Given the description of an element on the screen output the (x, y) to click on. 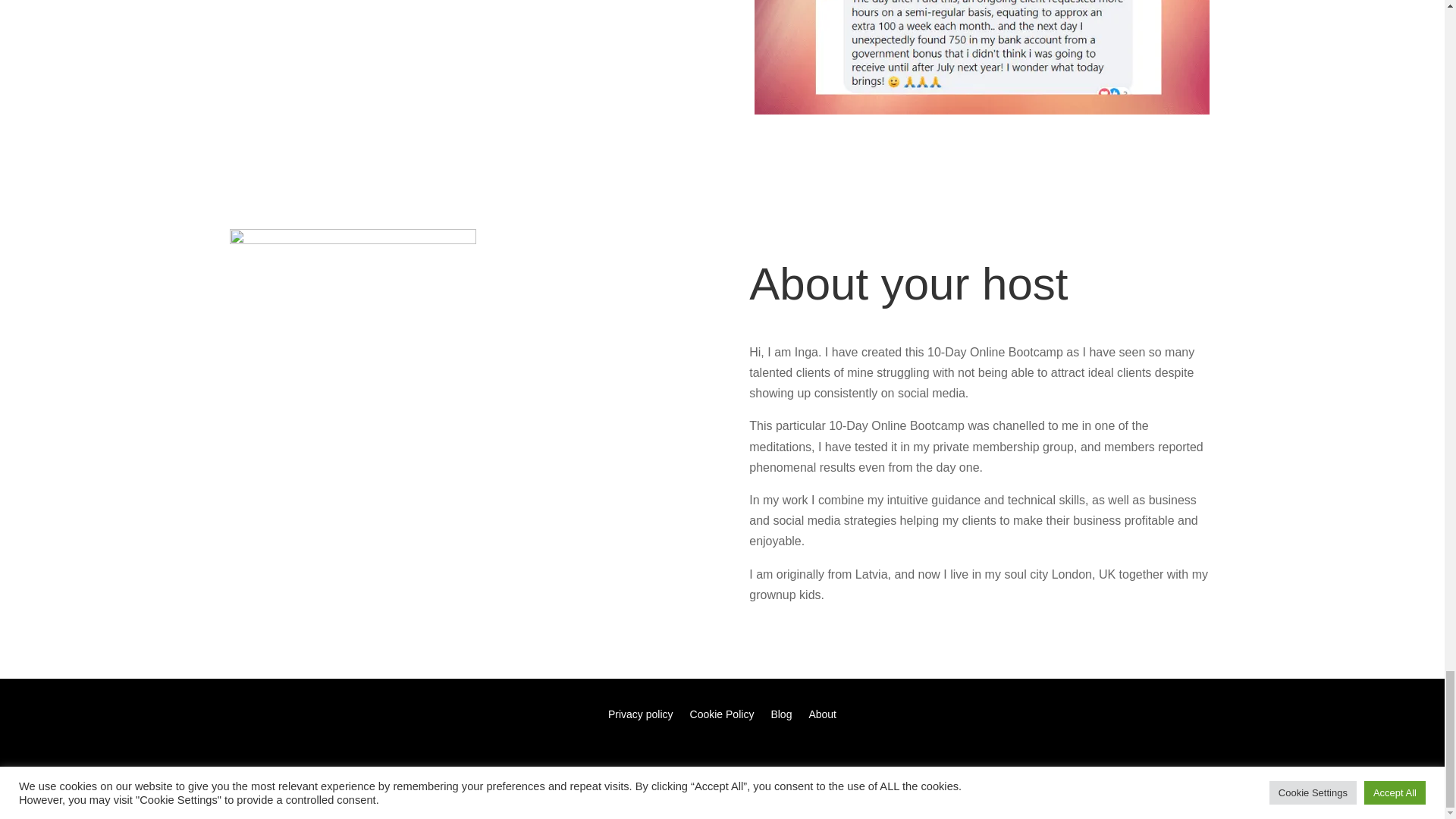
Privacy policy (640, 717)
900 Kunder.com (852, 784)
About (821, 717)
Cookie Policy (722, 717)
Blog (781, 717)
inga 1 (352, 352)
